Given the description of an element on the screen output the (x, y) to click on. 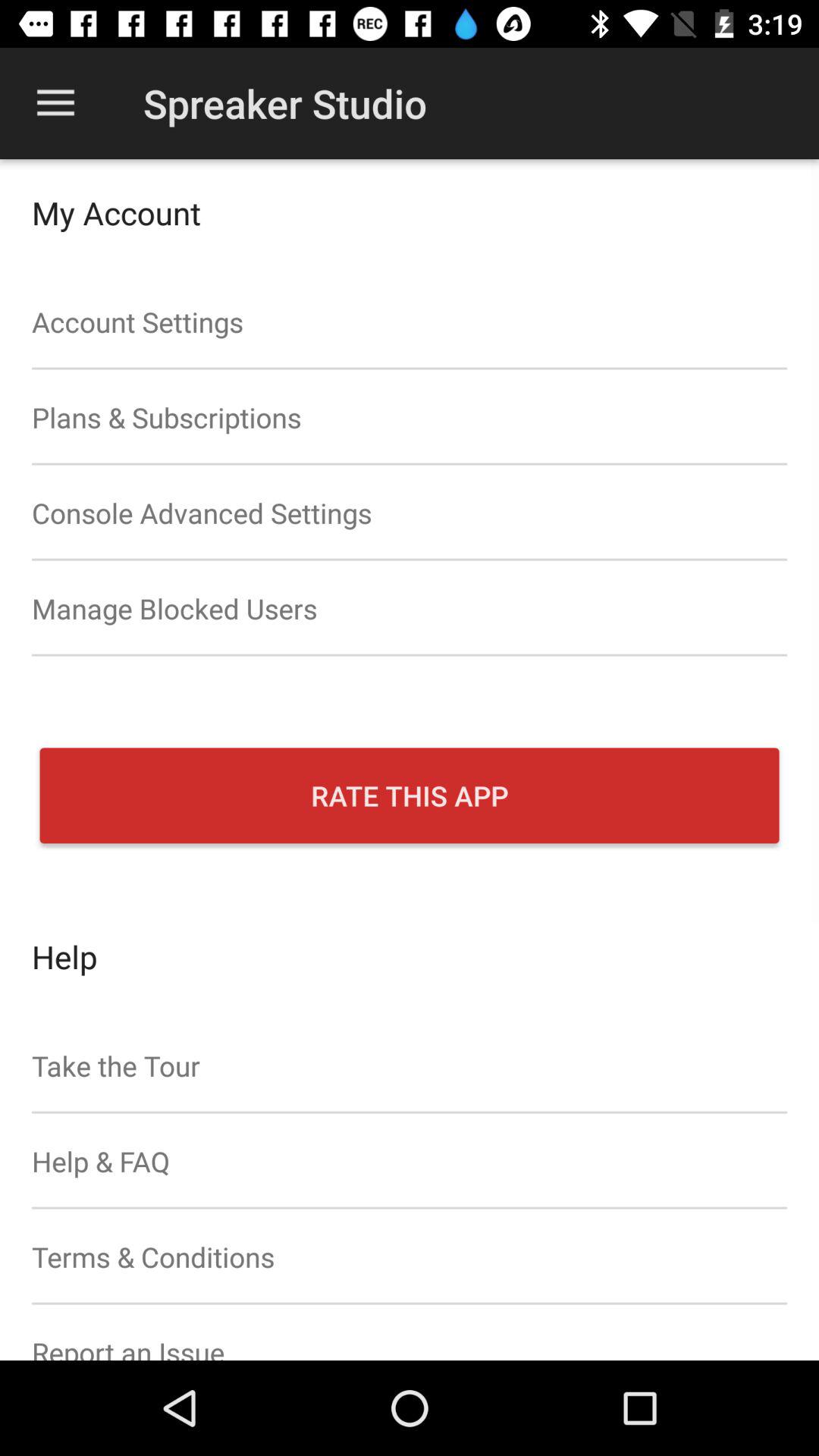
turn off icon above help & faq (409, 1065)
